Given the description of an element on the screen output the (x, y) to click on. 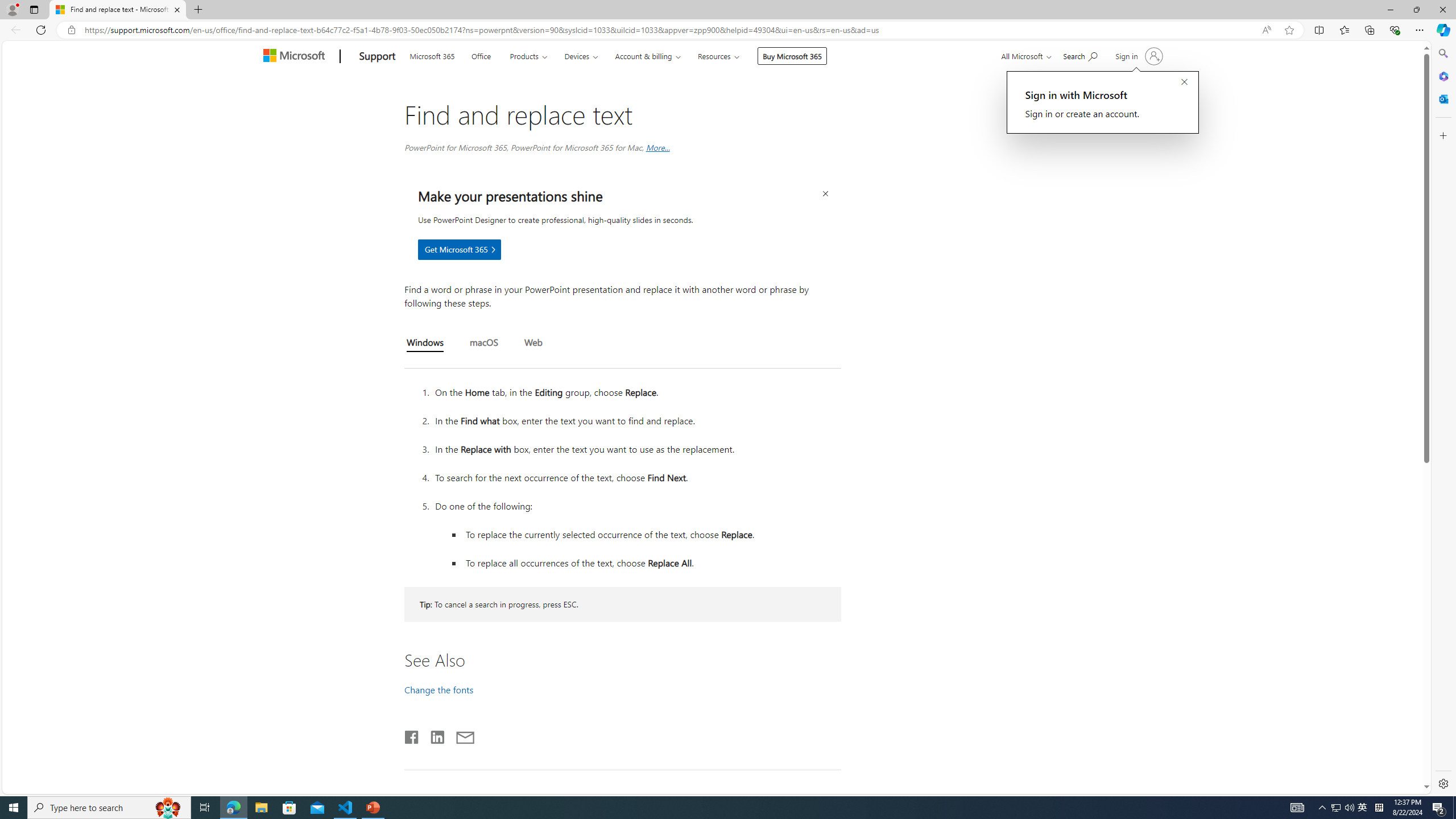
Share on Facebook (412, 735)
Find and replace text - Microsoft Support (117, 9)
Address and search bar (669, 29)
Email (464, 735)
Split screen (1318, 29)
Side bar (1443, 418)
On the Home tab, in the Editing group, choose Replace. (635, 391)
To replace all occurrences of the text, choose Replace All. (652, 562)
Microsoft 365 (432, 54)
Microsoft 365 (432, 54)
